Given the description of an element on the screen output the (x, y) to click on. 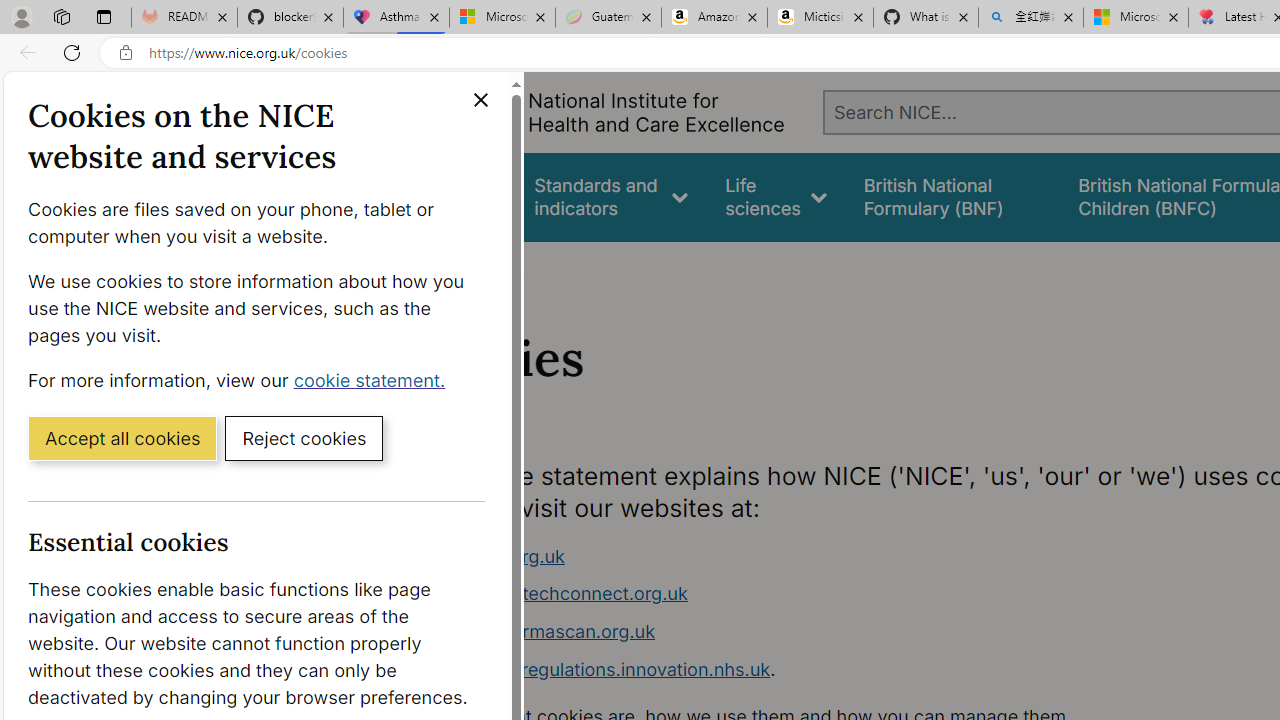
Guidance (458, 196)
www.nice.org.uk (492, 556)
www.ukpharmascan.org.uk (538, 631)
www.nice.org.uk (796, 556)
Guidance (458, 196)
Life sciences (776, 196)
www.ukpharmascan.org.uk (796, 632)
